Given the description of an element on the screen output the (x, y) to click on. 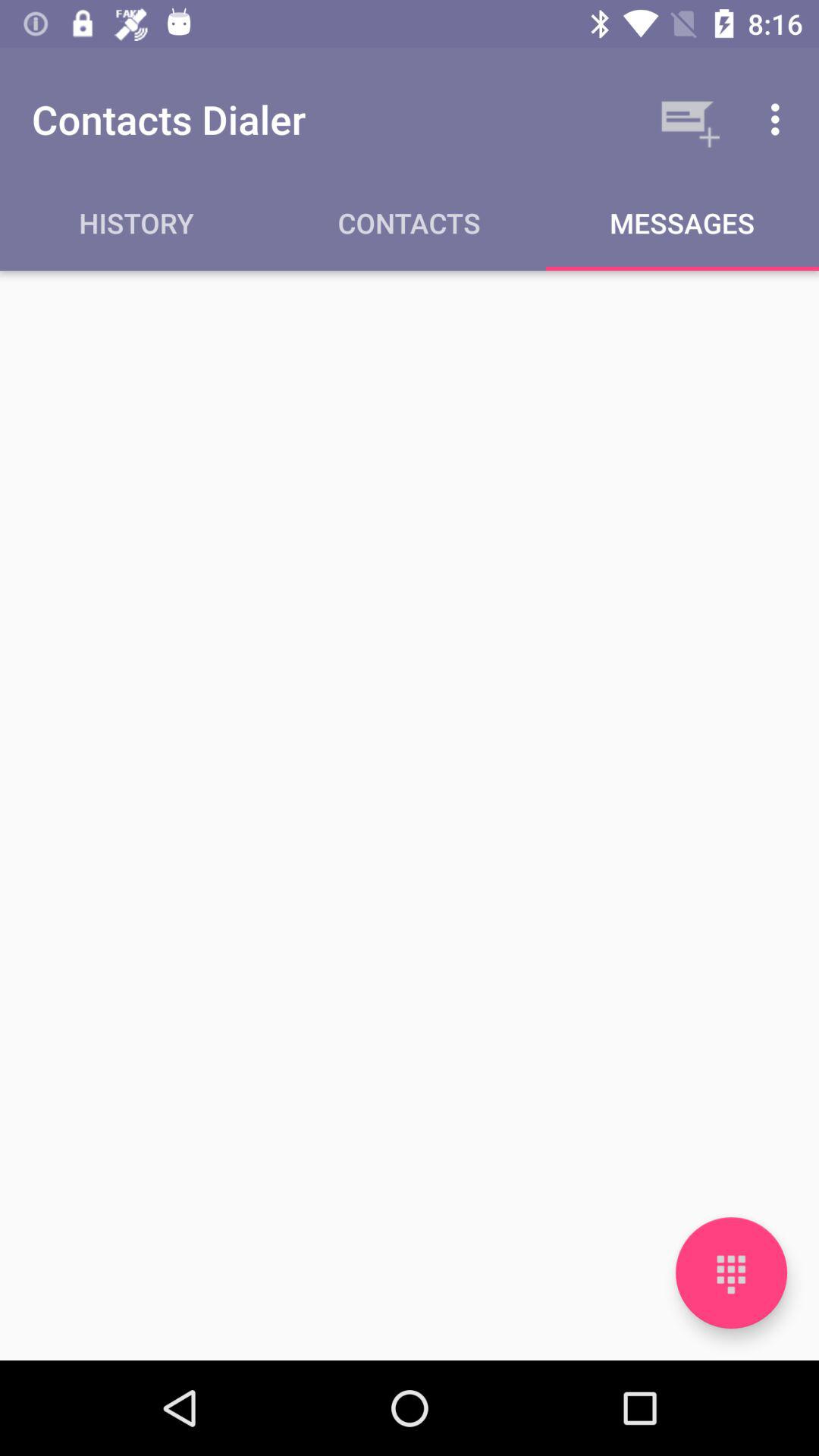
turn off the icon below messages (731, 1272)
